Given the description of an element on the screen output the (x, y) to click on. 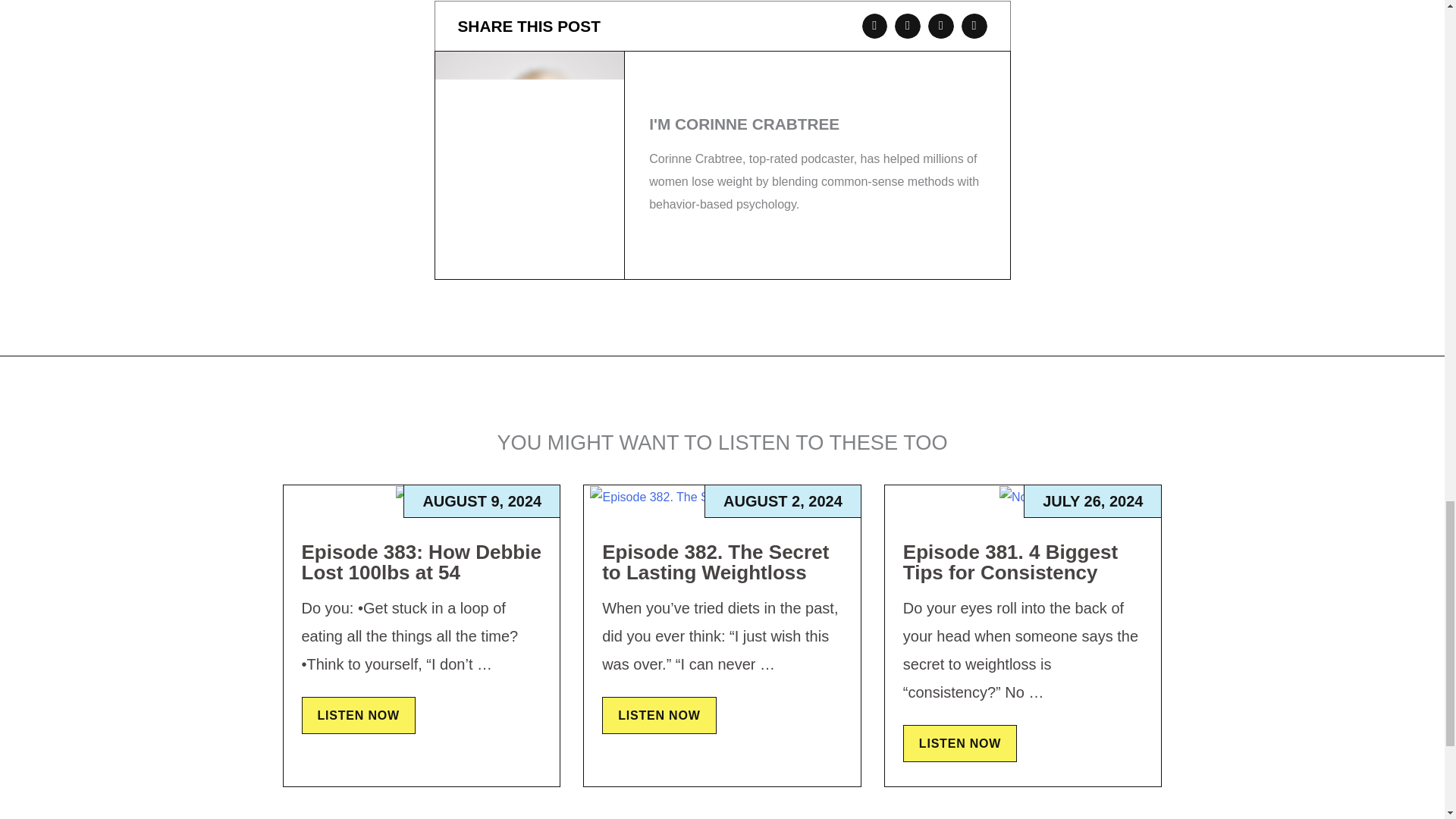
LISTEN NOW (659, 714)
Debbie (421, 497)
Episode 382. The Secret to Lasting Weightloss (715, 562)
LISTEN NOW (959, 743)
No BS (1022, 497)
LISTEN NOW (357, 714)
Episode 383: How Debbie Lost 100lbs at 54 (421, 562)
Episode 381. 4 Biggest Tips for Consistency (1010, 562)
Episode 382. The Secret to Lasting Weightloss (721, 497)
